Given the description of an element on the screen output the (x, y) to click on. 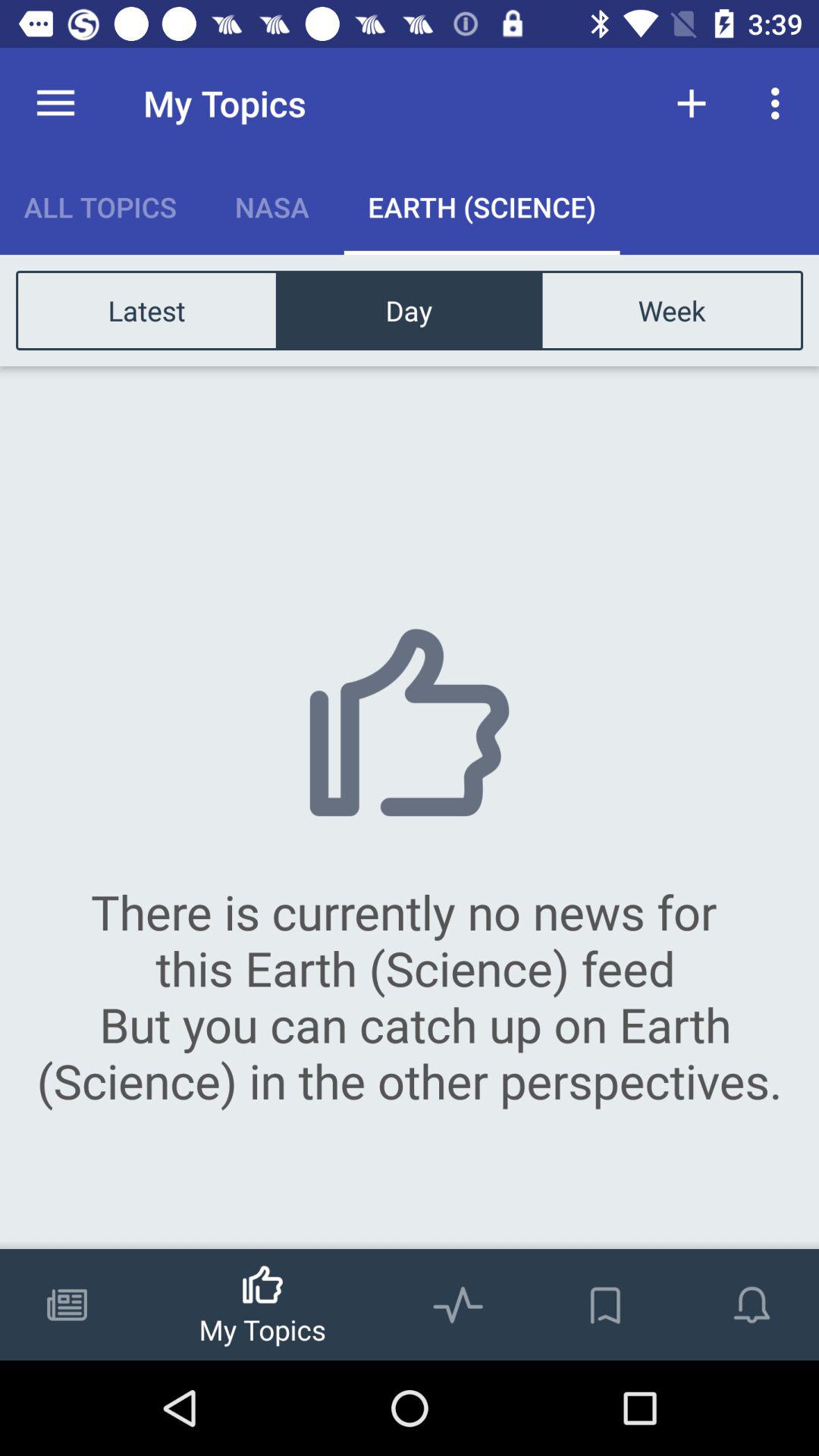
swipe to week item (671, 310)
